Given the description of an element on the screen output the (x, y) to click on. 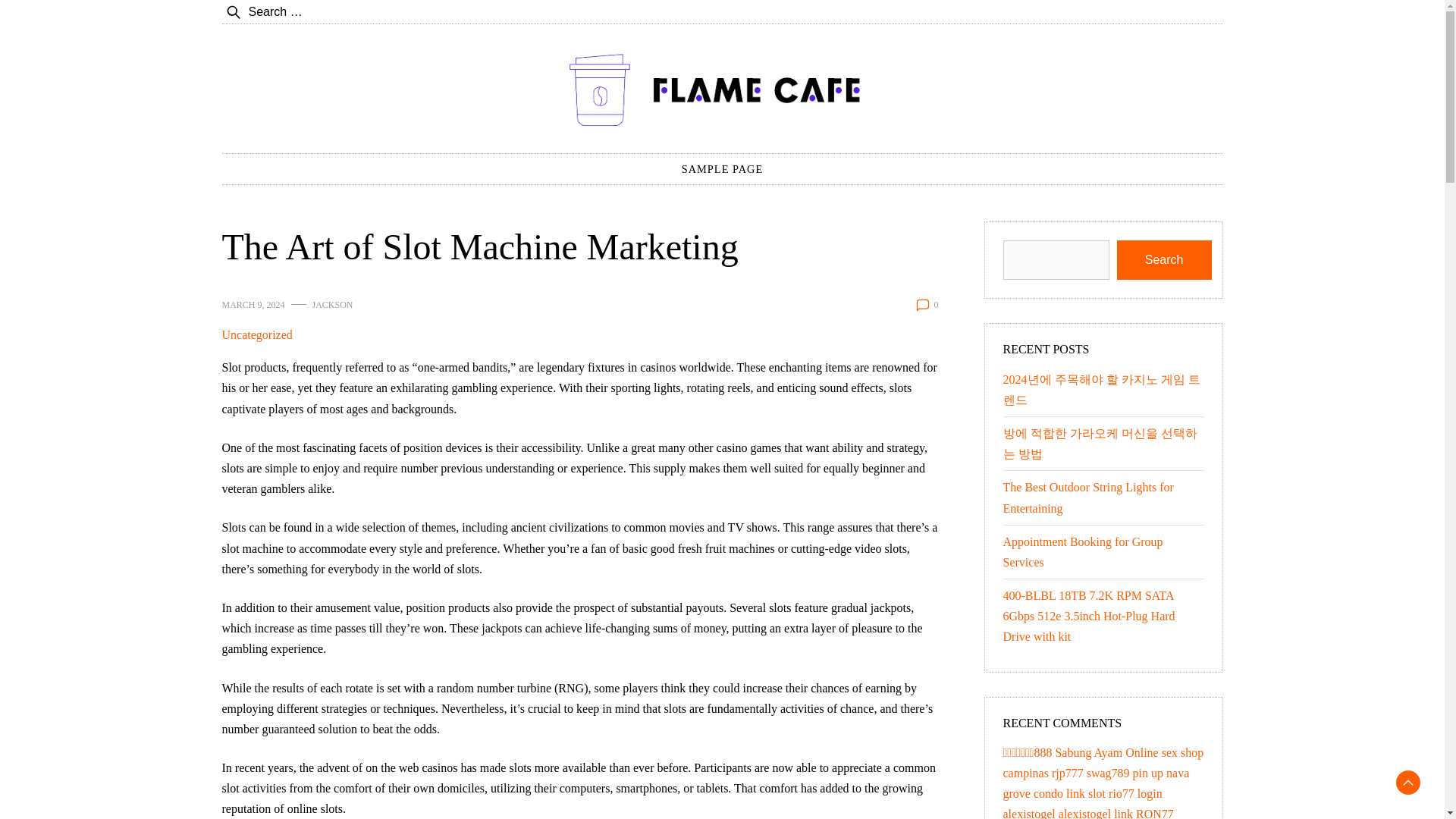
Search (1163, 260)
Uncategorized (256, 334)
rjp777 (1067, 772)
nava grove condo (1096, 783)
rio77 login (1134, 793)
Sabung Ayam Online (1105, 752)
MARCH 9, 2024 (252, 304)
SAMPLE PAGE (722, 168)
JACKSON (333, 304)
sex shop campinas (1103, 762)
